Given the description of an element on the screen output the (x, y) to click on. 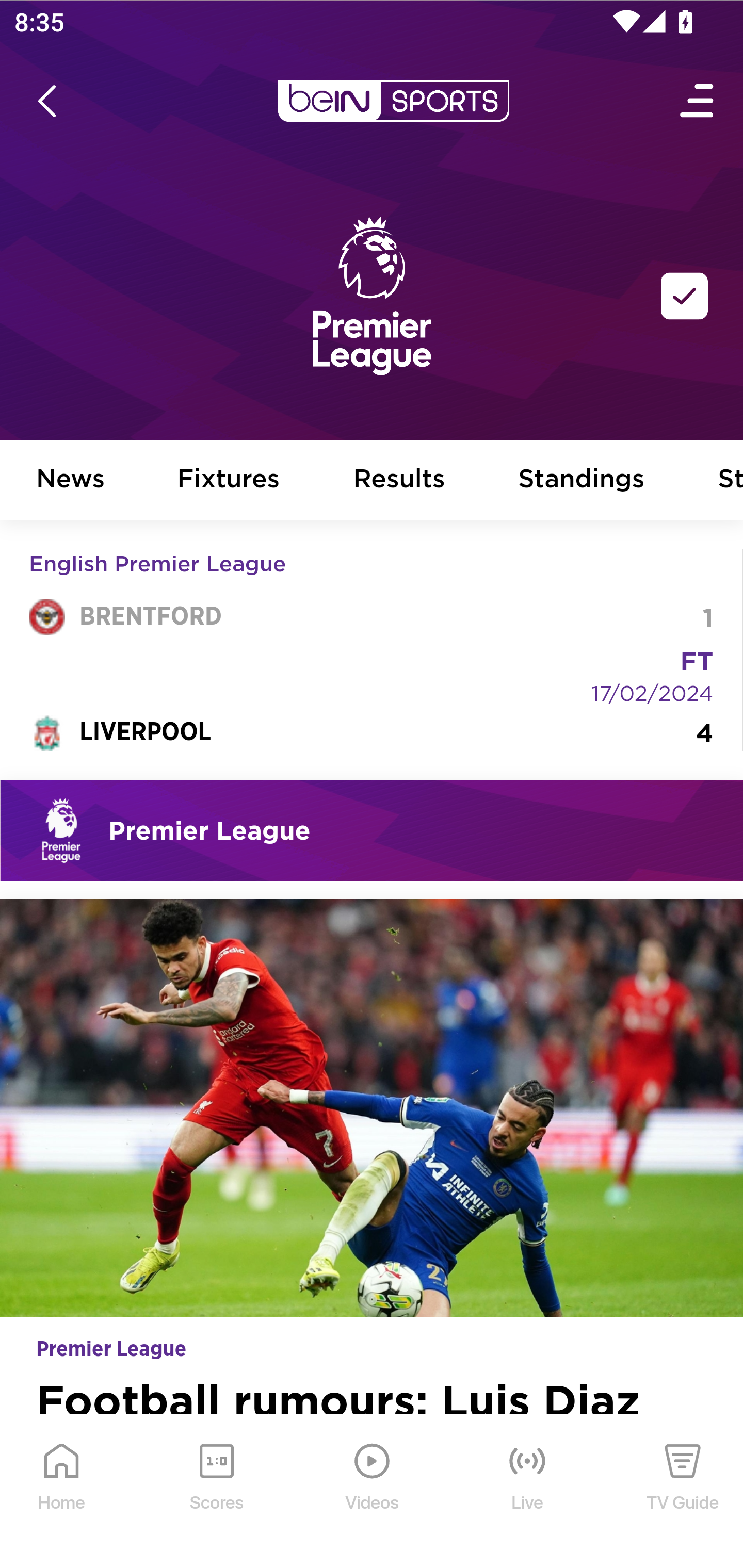
en-us?platform=mobile_android bein logo white (392, 101)
icon back (46, 101)
Open Menu Icon (697, 101)
News (70, 480)
Fixtures (229, 480)
Results (399, 480)
Standings (581, 480)
Home Home Icon Home (61, 1491)
Scores Scores Icon Scores (216, 1491)
Videos Videos Icon Videos (372, 1491)
TV Guide TV Guide Icon TV Guide (682, 1491)
